Given the description of an element on the screen output the (x, y) to click on. 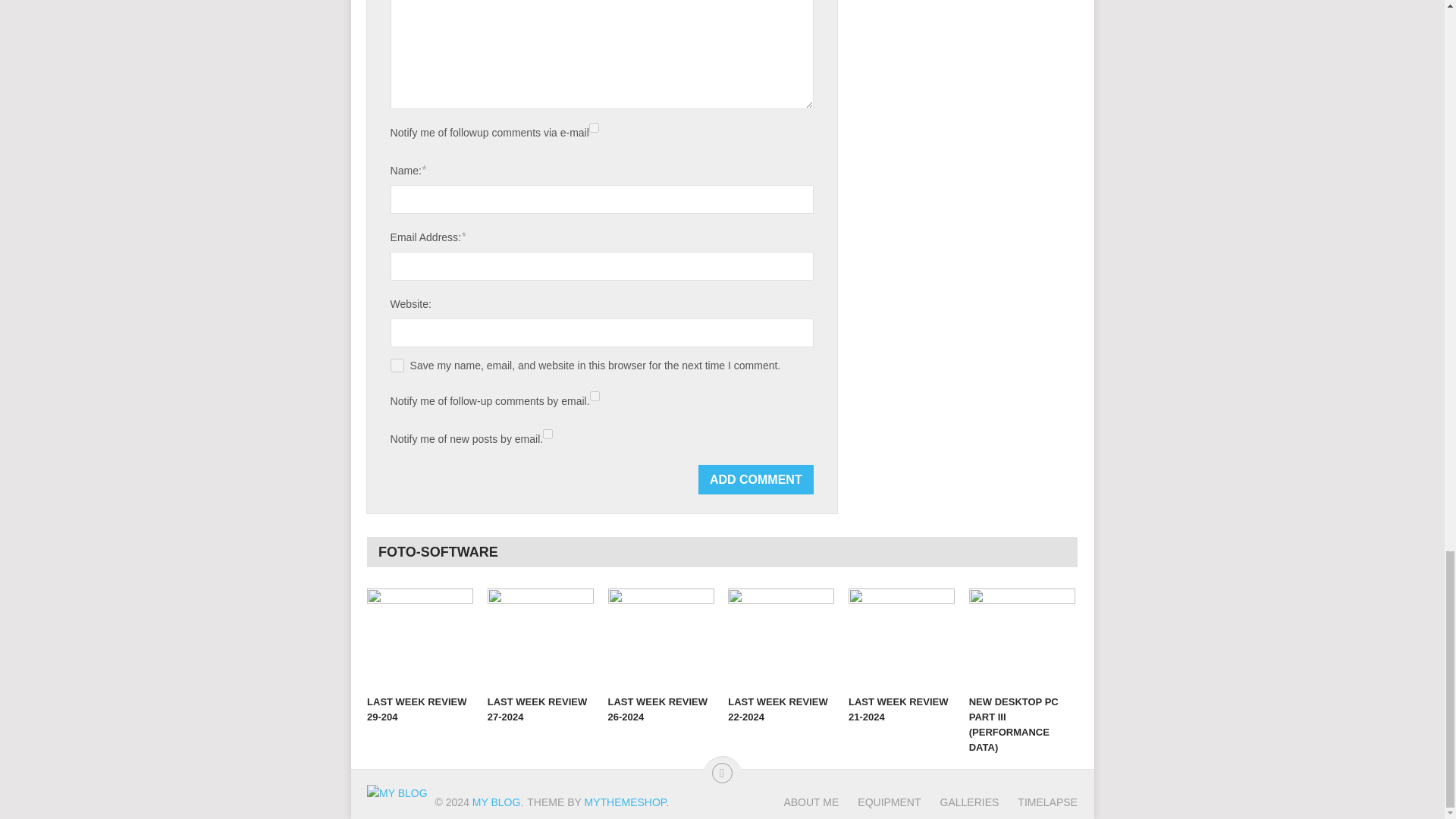
subscribe (594, 396)
subscribe (548, 433)
subscribe (593, 127)
yes (397, 365)
Add Comment (755, 479)
